Given the description of an element on the screen output the (x, y) to click on. 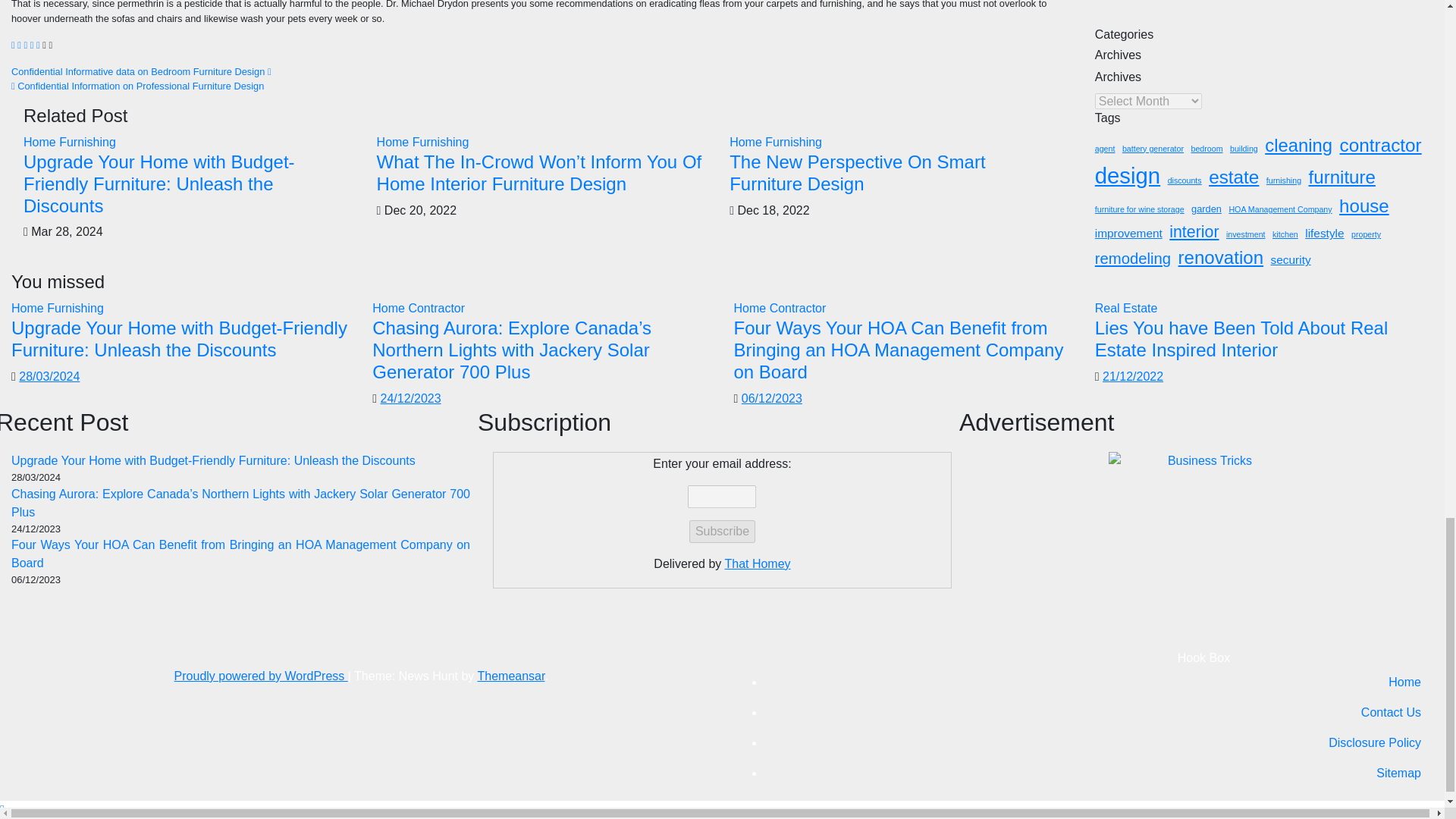
Home Furnishing (69, 141)
The New Perspective On Smart Furniture Design (857, 172)
Confidential Information on Professional Furniture Design (137, 85)
Permalink to: The New Perspective On Smart Furniture Design (857, 172)
Subscribe (721, 531)
Home Furnishing (775, 141)
Confidential Informative data on Bedroom Furniture Design (140, 71)
Home Furnishing (422, 141)
